Given the description of an element on the screen output the (x, y) to click on. 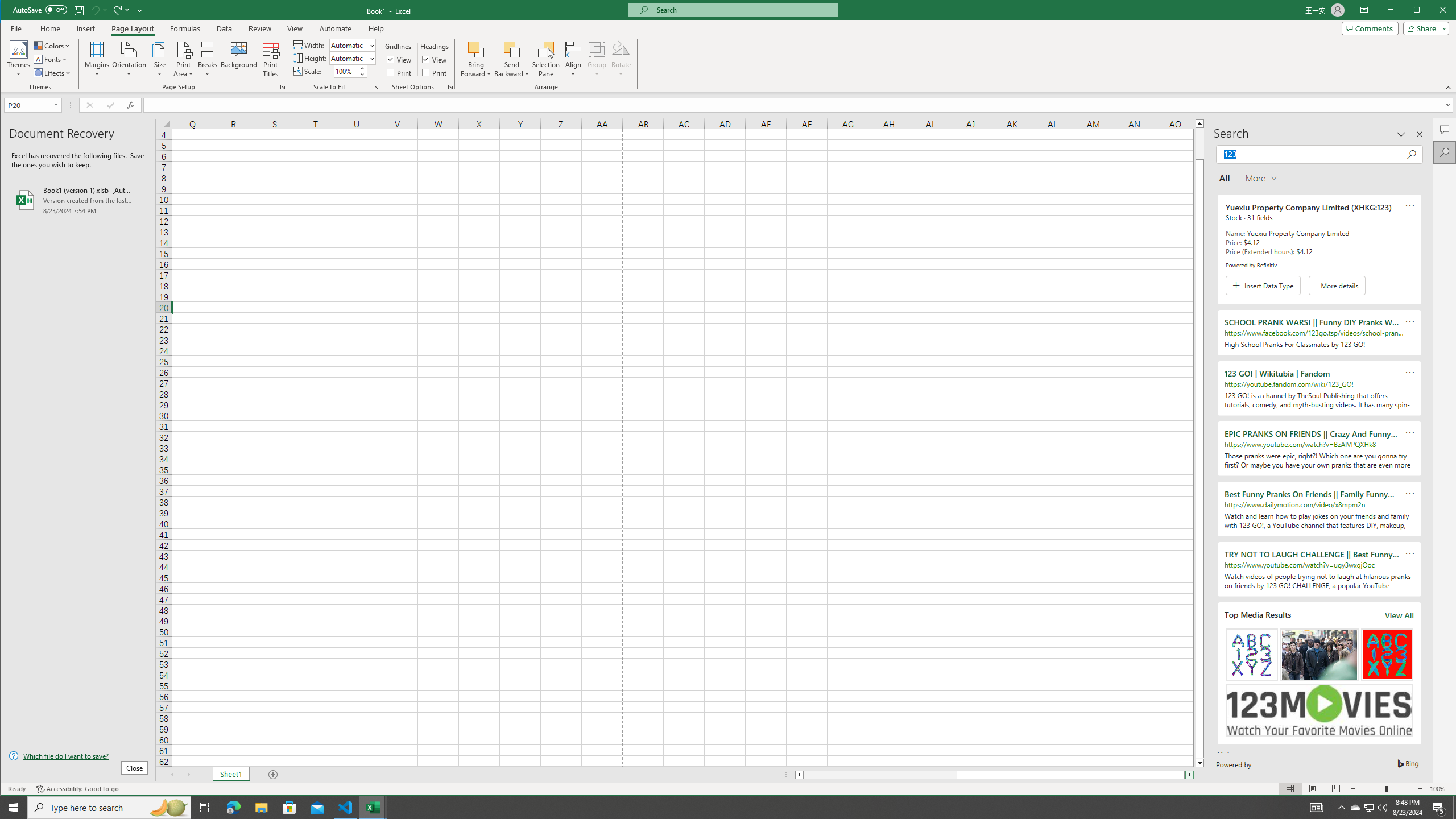
Start (13, 807)
Quick Access Toolbar (79, 9)
Book1 (version 1).xlsb  [AutoRecovered] (78, 199)
Microsoft Store (289, 807)
Rotate (620, 59)
Margins (96, 59)
Column right (1190, 774)
Accessibility Checker Accessibility: Good to go (77, 788)
Send Backward (512, 59)
Normal (1290, 788)
Formulas (184, 28)
Zoom (1386, 788)
